Given the description of an element on the screen output the (x, y) to click on. 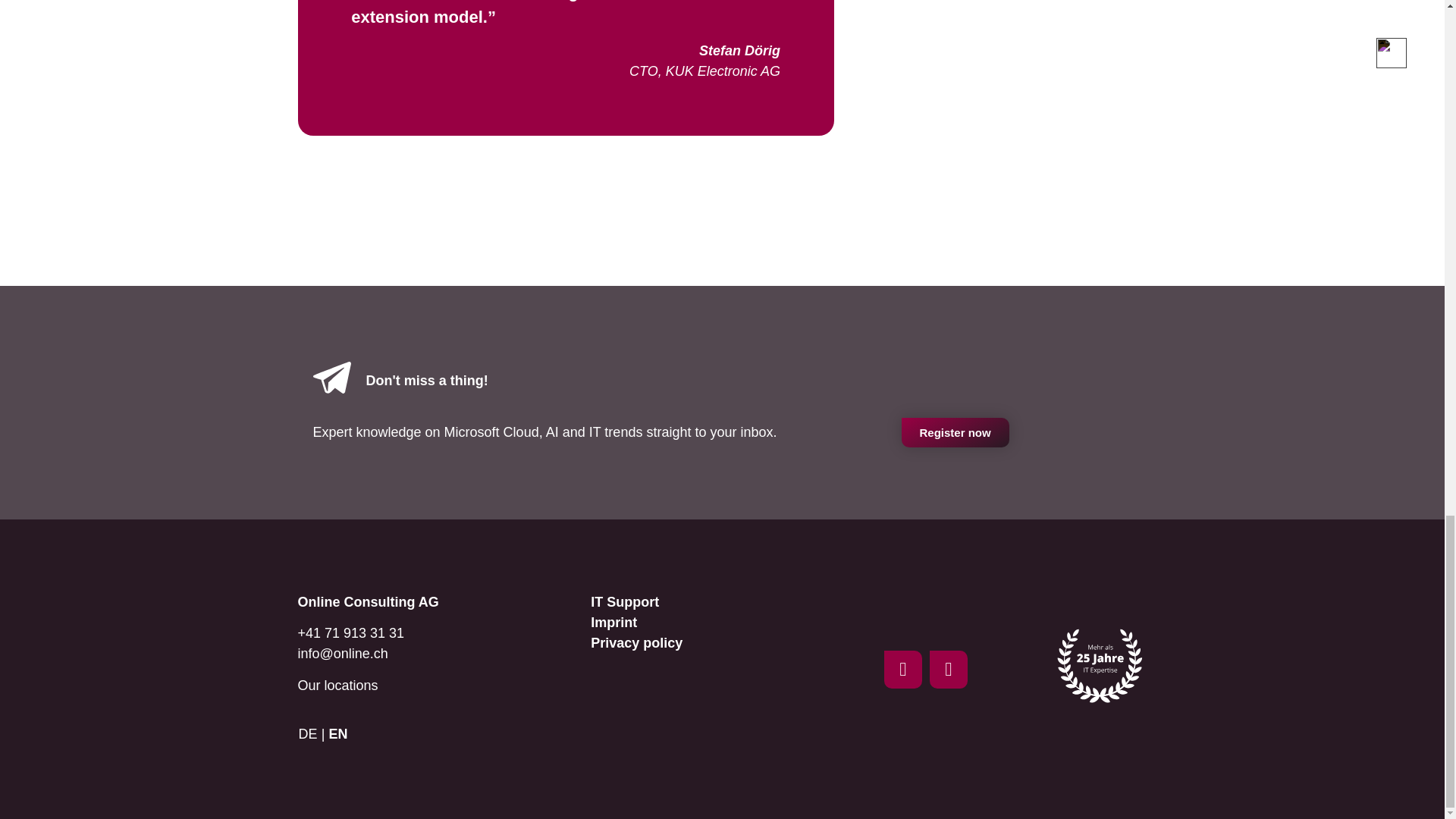
DE (311, 733)
Privacy policy (636, 642)
Our locations (337, 685)
IT Support (625, 601)
Register now (955, 432)
EN (342, 733)
Imprint (614, 622)
